Given the description of an element on the screen output the (x, y) to click on. 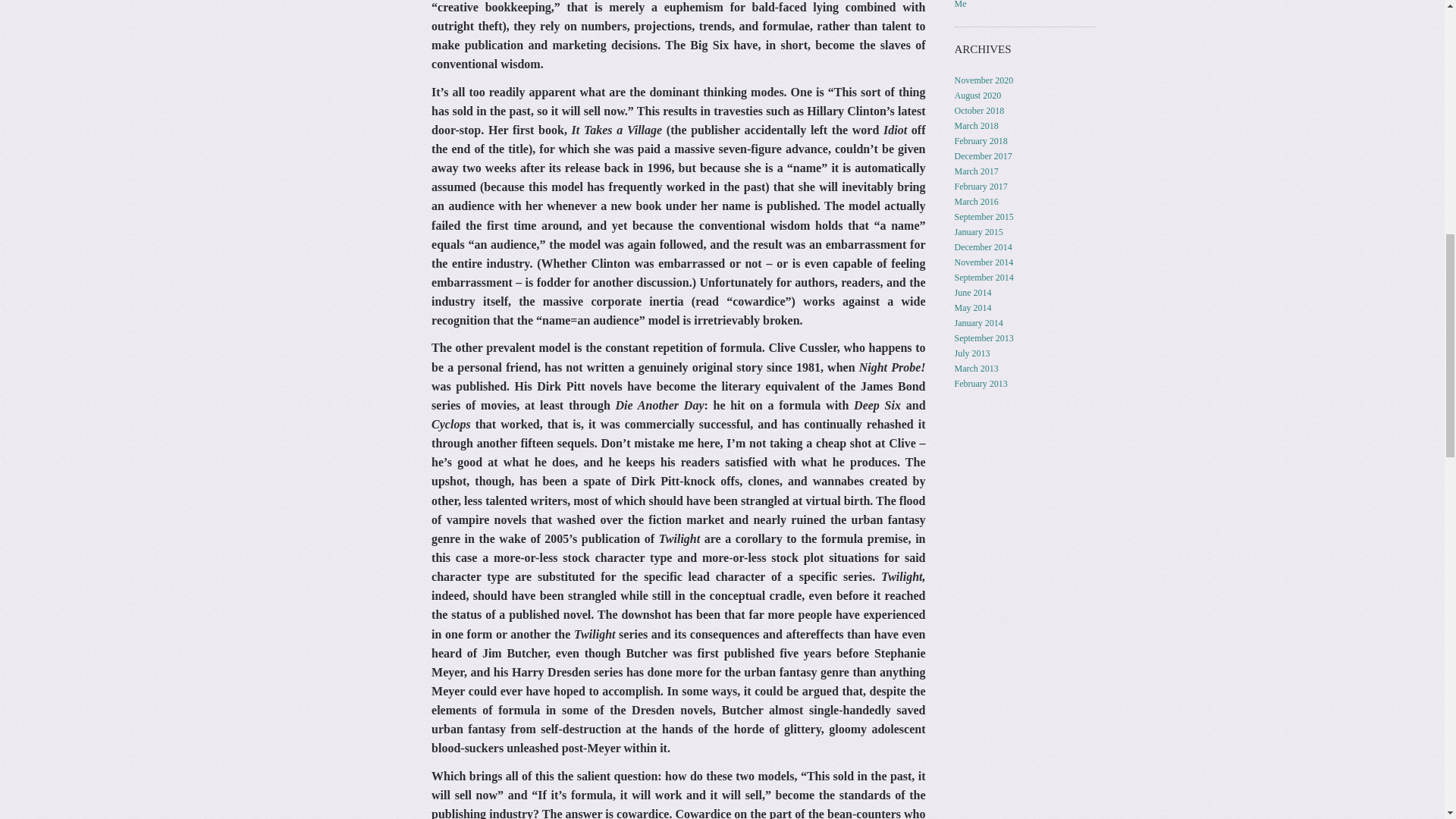
December 2017 (983, 155)
February 2018 (981, 140)
Where to Contact Me (1022, 4)
November 2020 (984, 80)
March 2017 (976, 171)
March 2018 (976, 125)
October 2018 (979, 110)
August 2020 (978, 95)
